Given the description of an element on the screen output the (x, y) to click on. 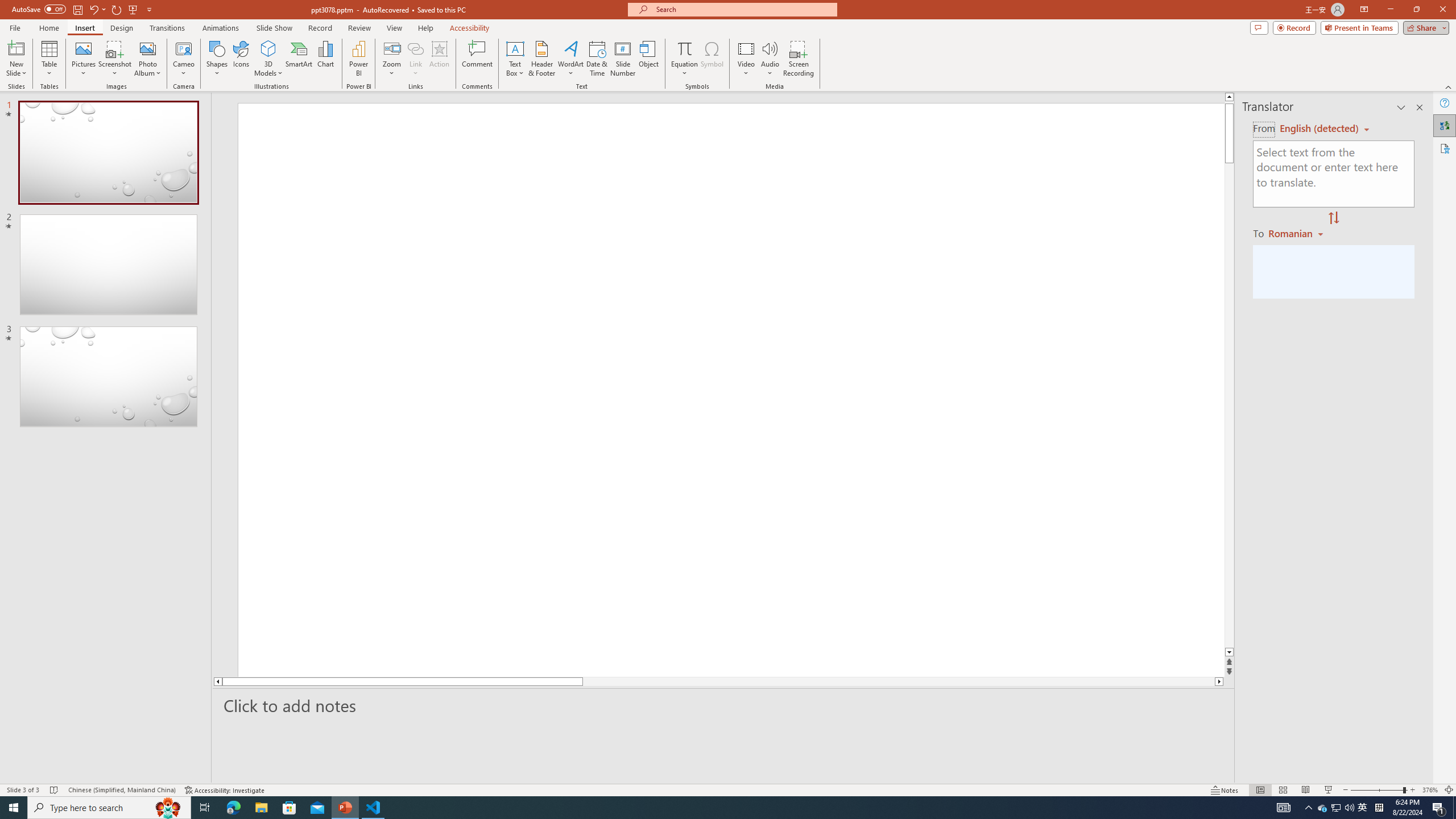
Czech (detected) (1319, 128)
Link (415, 58)
3D Models (268, 58)
New Photo Album... (147, 48)
Table (49, 58)
